Given the description of an element on the screen output the (x, y) to click on. 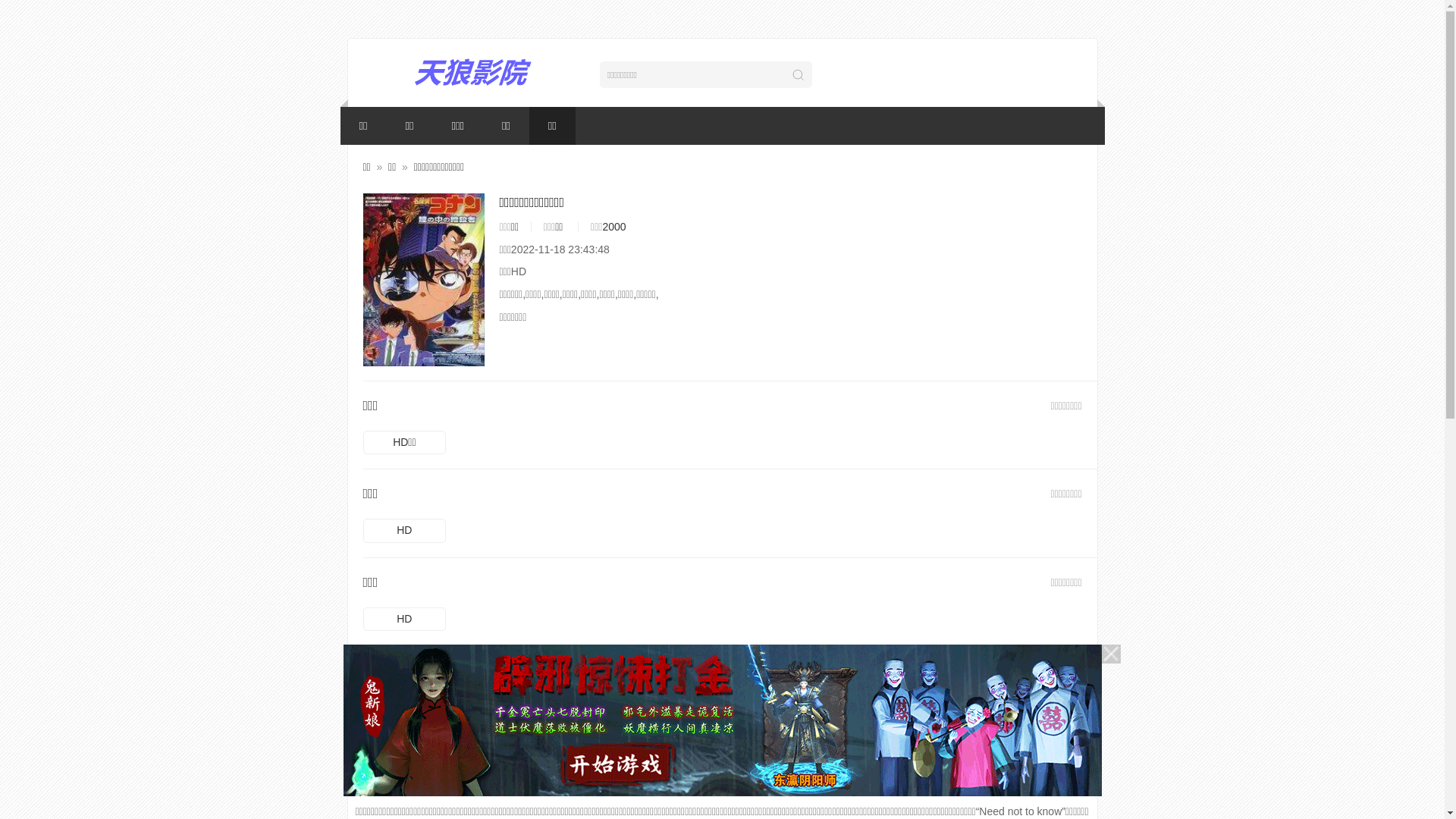
2000 Element type: text (613, 226)
HD Element type: text (403, 530)
HD Element type: text (403, 619)
